Given the description of an element on the screen output the (x, y) to click on. 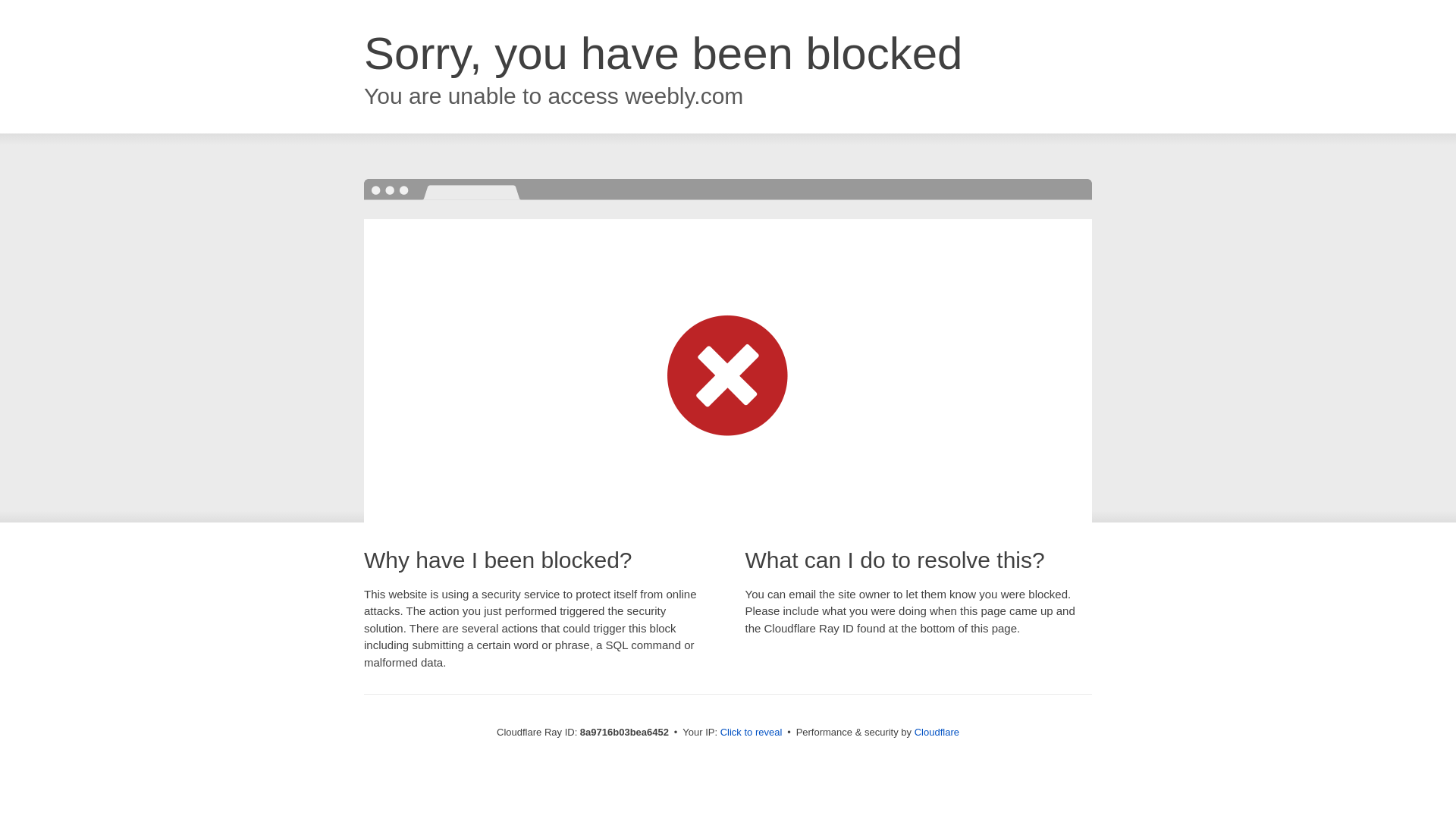
Cloudflare (936, 731)
Click to reveal (751, 732)
